Given the description of an element on the screen output the (x, y) to click on. 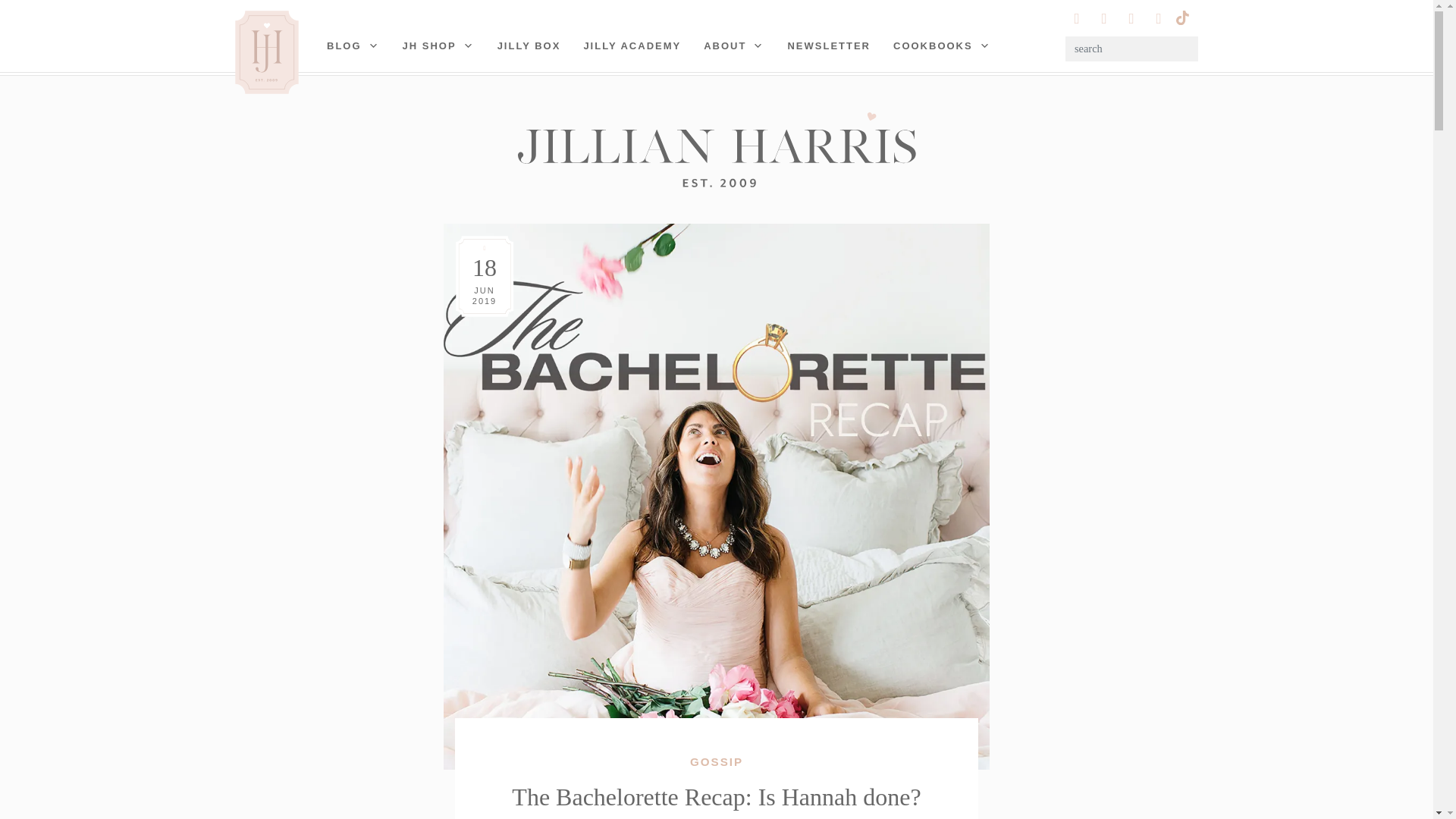
Jillian Harris Design Inc. (716, 149)
Visit our instagram account (1076, 18)
BLOG (353, 46)
Visit our tiktok account (1181, 15)
Visit our youtube account (1130, 18)
Visit our pinterest account (1104, 18)
Visit our facebook account (1158, 18)
